Given the description of an element on the screen output the (x, y) to click on. 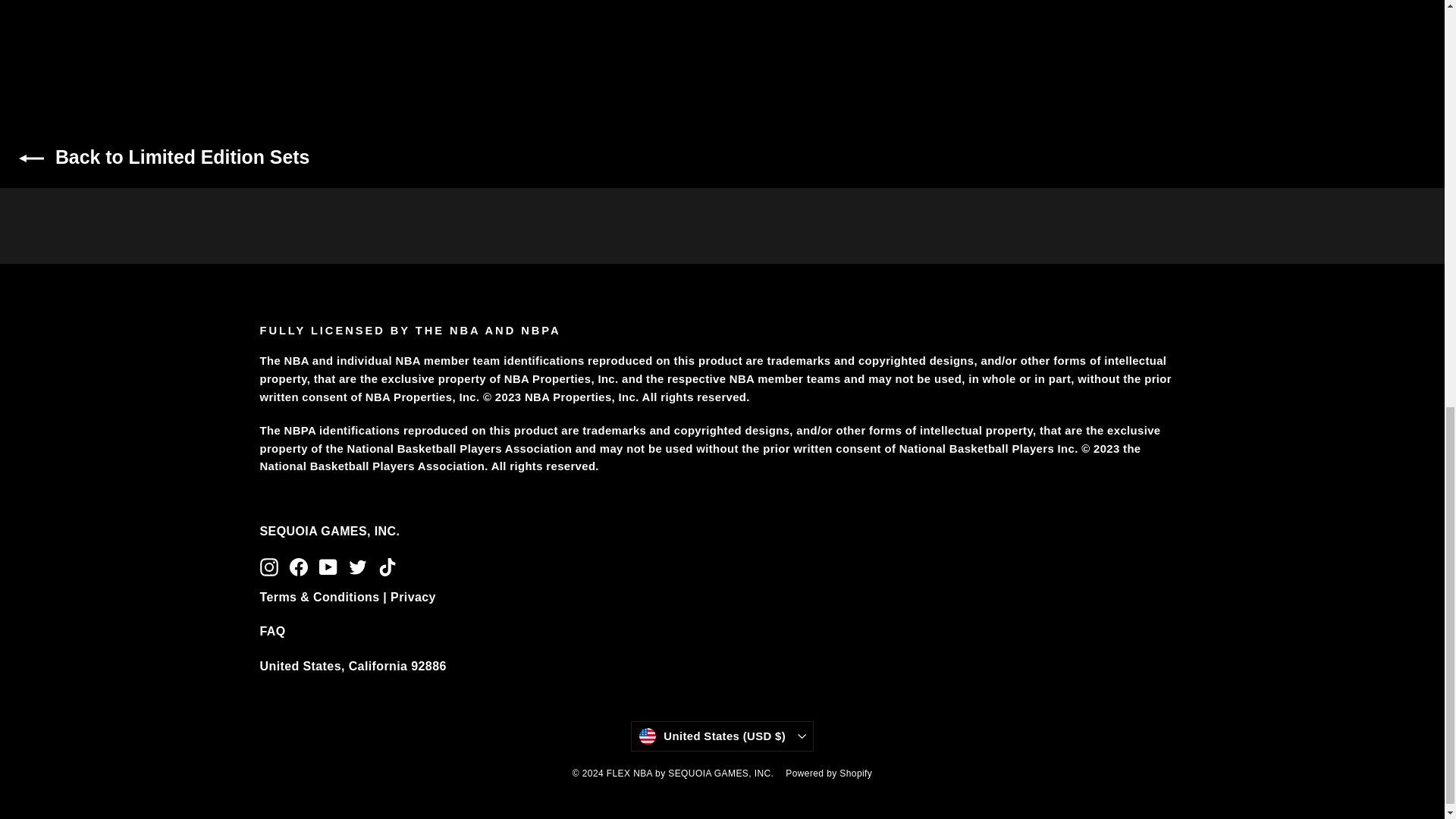
TERMS (347, 596)
FLEX NBA by SEQUOIA GAMES, INC. on Facebook (298, 566)
FLEX NBA by SEQUOIA GAMES, INC. on Instagram (268, 566)
FLEX NBA by SEQUOIA GAMES, INC. on TikTok (386, 566)
FAQ (272, 631)
FLEX NBA by SEQUOIA GAMES, INC. on Twitter (357, 566)
FLEX NBA by SEQUOIA GAMES, INC. on YouTube (327, 566)
